Given the description of an element on the screen output the (x, y) to click on. 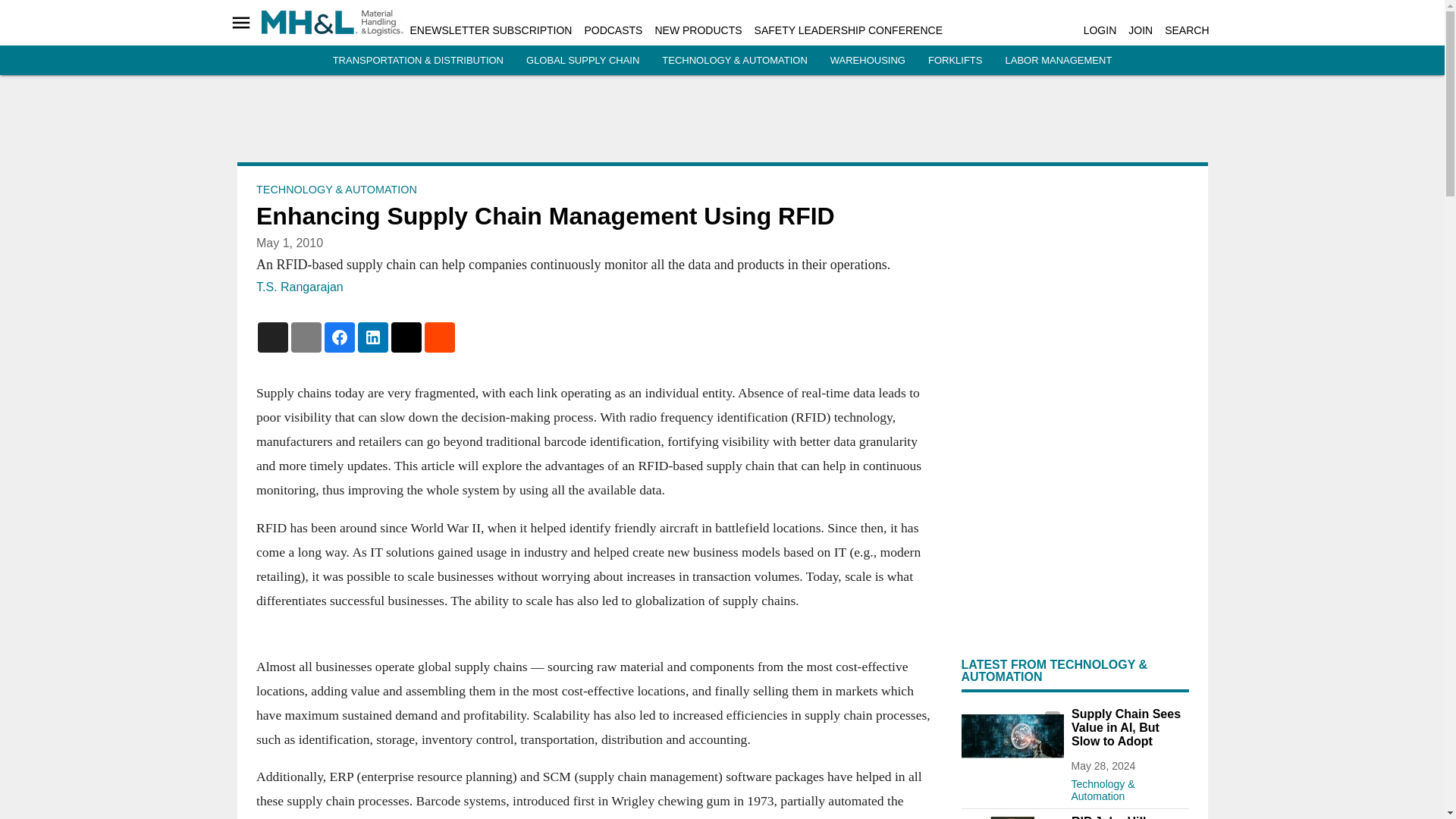
SAFETY LEADERSHIP CONFERENCE (848, 30)
LABOR MANAGEMENT (1058, 60)
SEARCH (1186, 30)
ENEWSLETTER SUBSCRIPTION (490, 30)
NEW PRODUCTS (697, 30)
FORKLIFTS (955, 60)
JOIN (1140, 30)
GLOBAL SUPPLY CHAIN (582, 60)
T.S. Rangarajan (299, 286)
PODCASTS (612, 30)
LOGIN (1099, 30)
Supply Chain Sees Value in AI, But Slow to Adopt (1012, 735)
WAREHOUSING (867, 60)
